Given the description of an element on the screen output the (x, y) to click on. 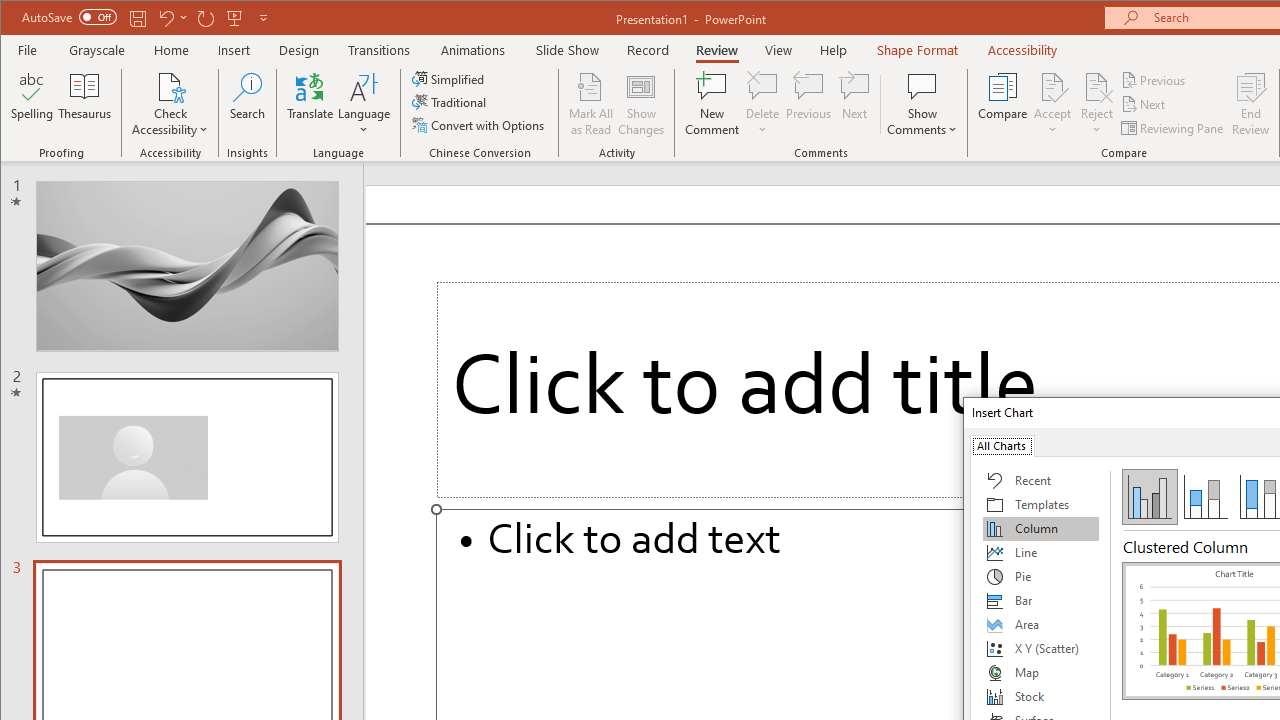
Accept Change (1052, 86)
Mark All as Read (591, 104)
Reject (1096, 104)
Reject Change (1096, 86)
Show Changes (640, 104)
Accept (1052, 104)
All Charts (1001, 444)
Stock (1041, 696)
Simplified (450, 78)
